Given the description of an element on the screen output the (x, y) to click on. 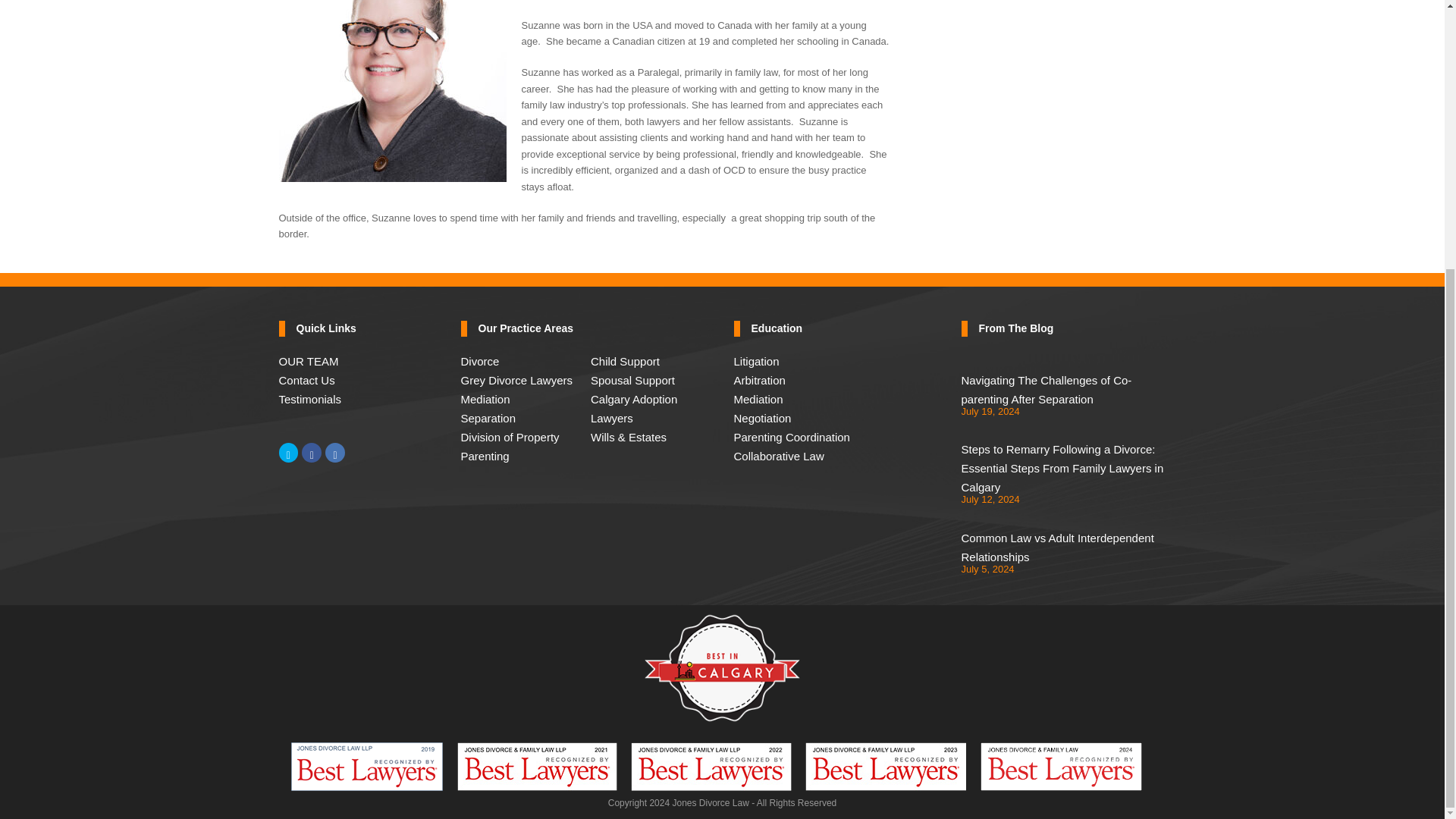
Best Lawyers - Firm Logo (1060, 766)
LinkedIn (334, 452)
Best Lawyers - Lawyer Logo (885, 766)
Facebook (311, 452)
Twitter (288, 452)
